Given the description of an element on the screen output the (x, y) to click on. 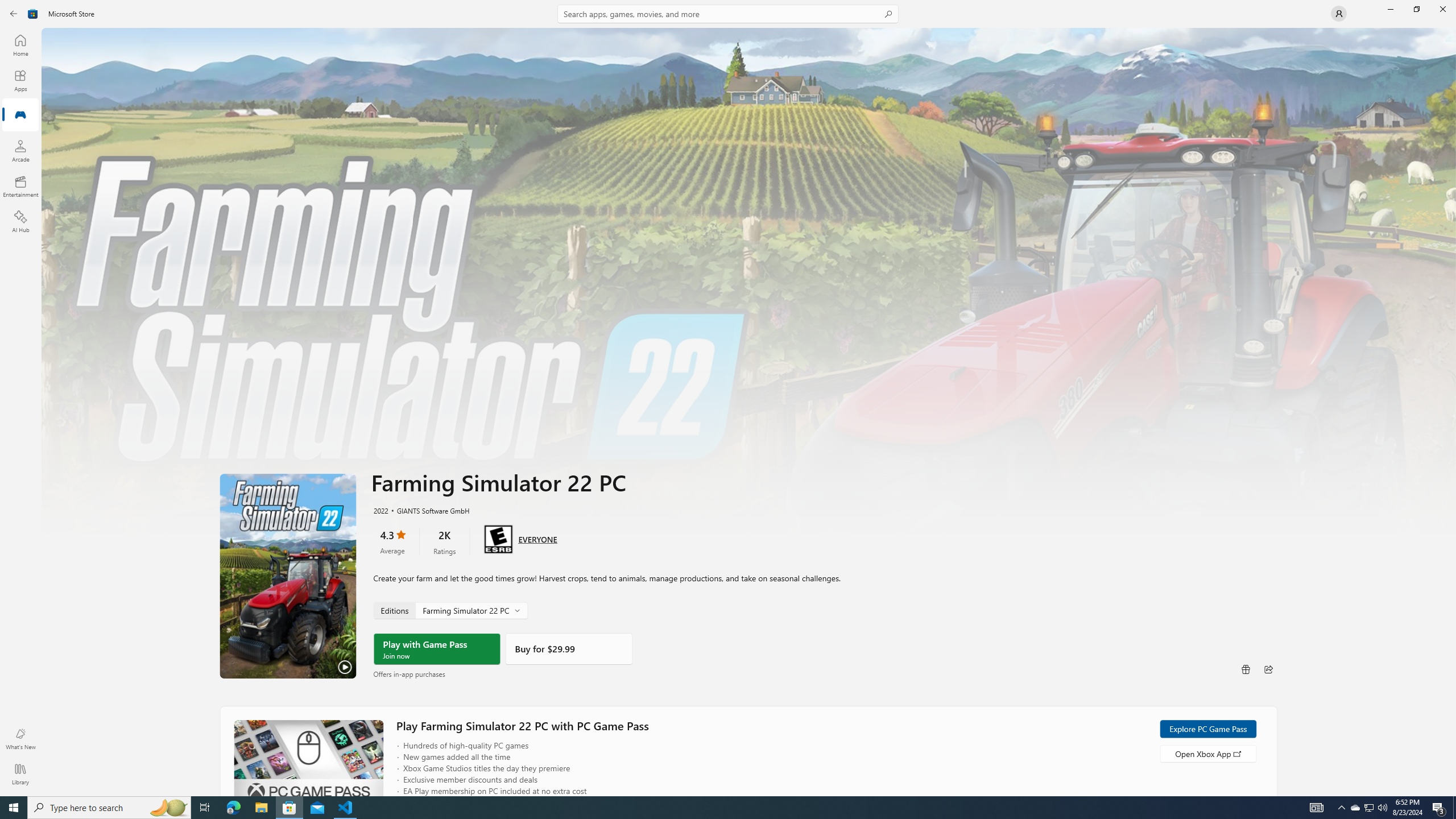
Search (727, 13)
2022 (379, 510)
AutomationID: NavigationControl (728, 398)
Buy (568, 649)
4.3 stars. Click to skip to ratings and reviews (392, 541)
Open Xbox App (1207, 753)
Play with Game Pass (436, 649)
Age rating: EVERYONE. Click for more information. (537, 538)
GIANTS Software GmbH (427, 510)
Explore PC Game Pass (1207, 728)
